Given the description of an element on the screen output the (x, y) to click on. 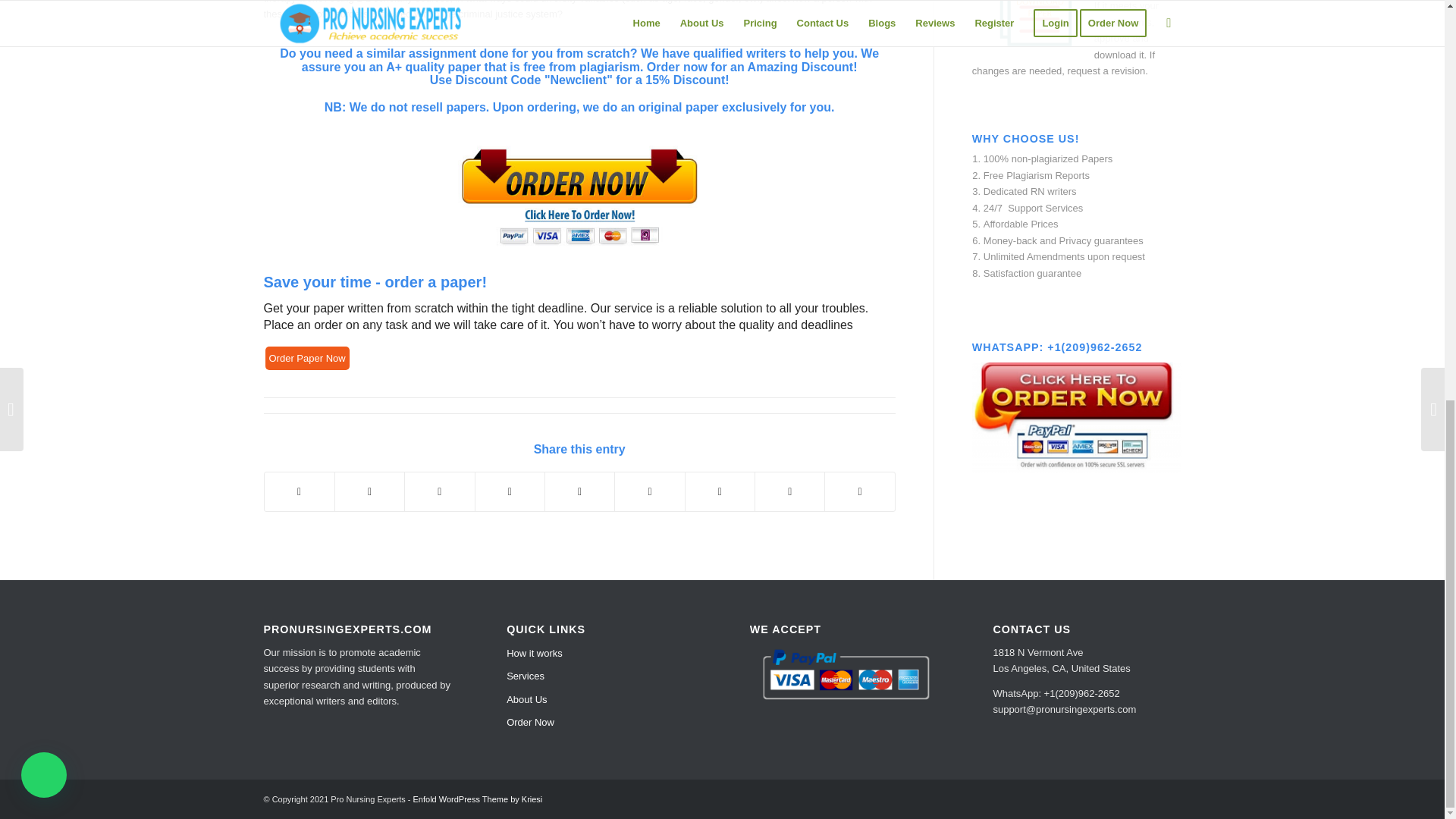
About Us (600, 699)
Order Paper Now (306, 358)
How it works (600, 653)
Order Now (600, 722)
Enfold WordPress Theme by Kriesi (478, 798)
Services (600, 676)
